Given the description of an element on the screen output the (x, y) to click on. 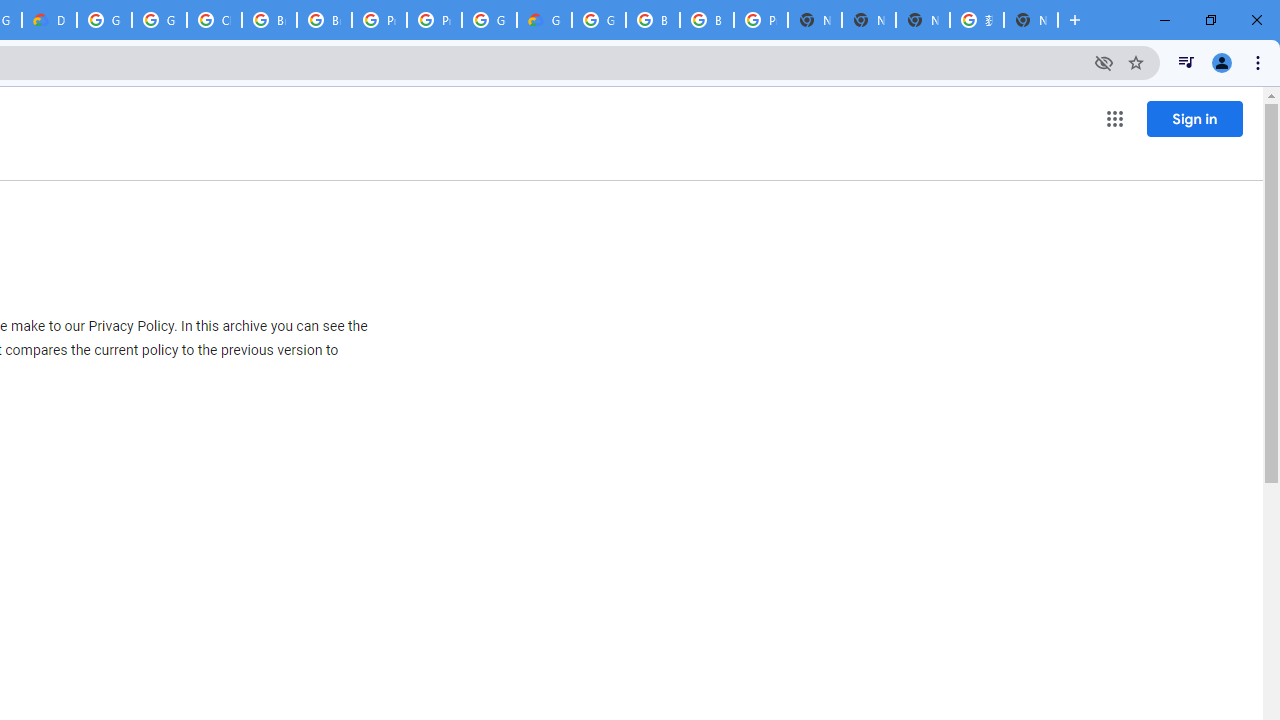
New Tab (1030, 20)
Browse Chrome as a guest - Computer - Google Chrome Help (652, 20)
Google Cloud Platform (598, 20)
Google Cloud Estimate Summary (544, 20)
Google Cloud Platform (103, 20)
